Given the description of an element on the screen output the (x, y) to click on. 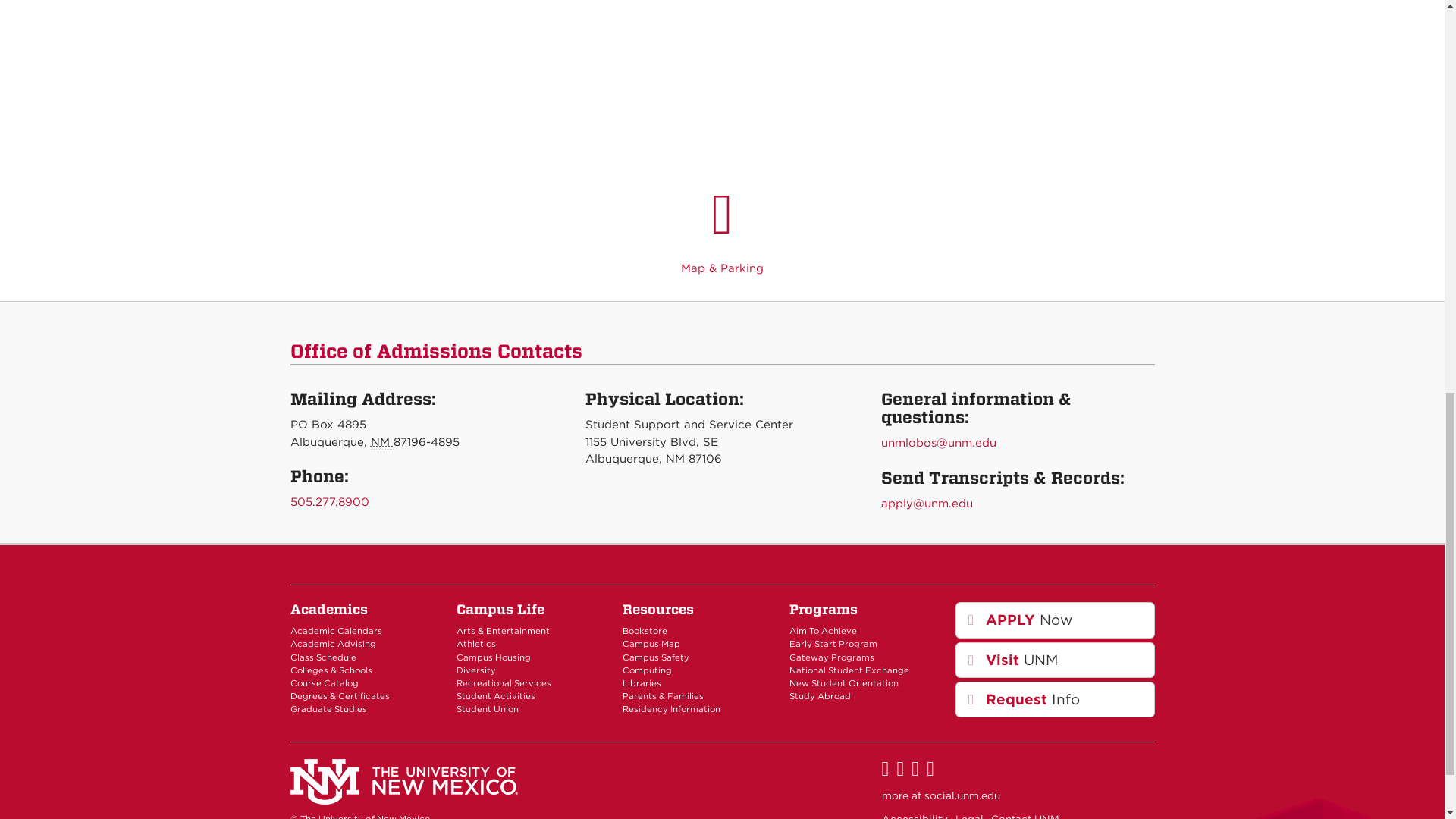
Athletics (476, 643)
505.277.8900 (328, 501)
Aim To Achieve (823, 630)
Course Catalog (323, 683)
Student Activities (496, 696)
Academic Advising (332, 643)
Libraries (642, 683)
Bookstore (644, 630)
Recreational Services (504, 683)
Academic Calendars (335, 630)
